Given the description of an element on the screen output the (x, y) to click on. 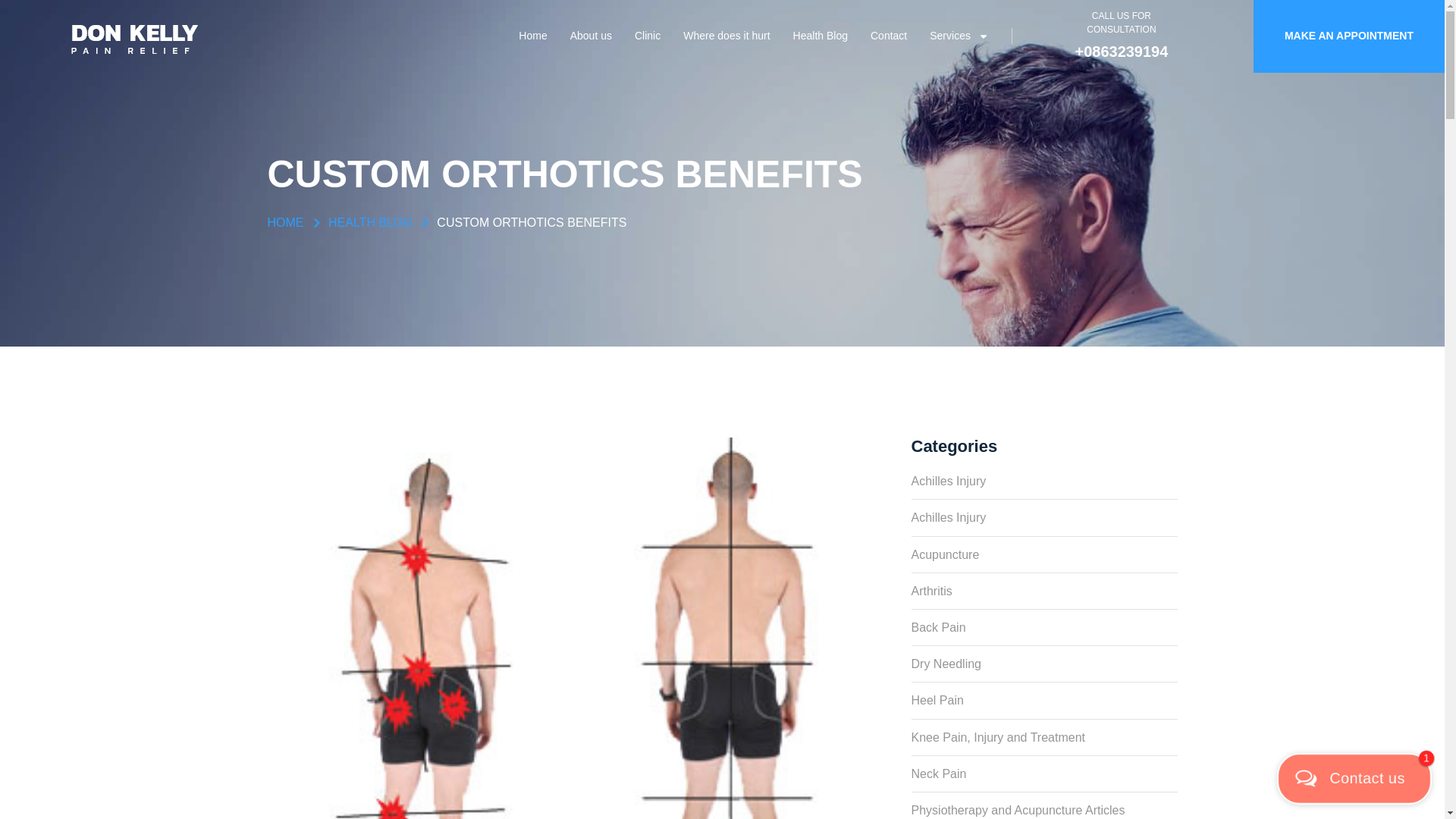
About us (590, 35)
Acupuncture (1044, 550)
Services (959, 35)
Clinic (647, 35)
Achilles Injury (1044, 480)
Heel Pain (1044, 695)
Knee Pain, Injury and Treatment (1044, 733)
Achilles Injury (1044, 512)
Neck Pain (1044, 769)
Health Blog (820, 35)
